Given the description of an element on the screen output the (x, y) to click on. 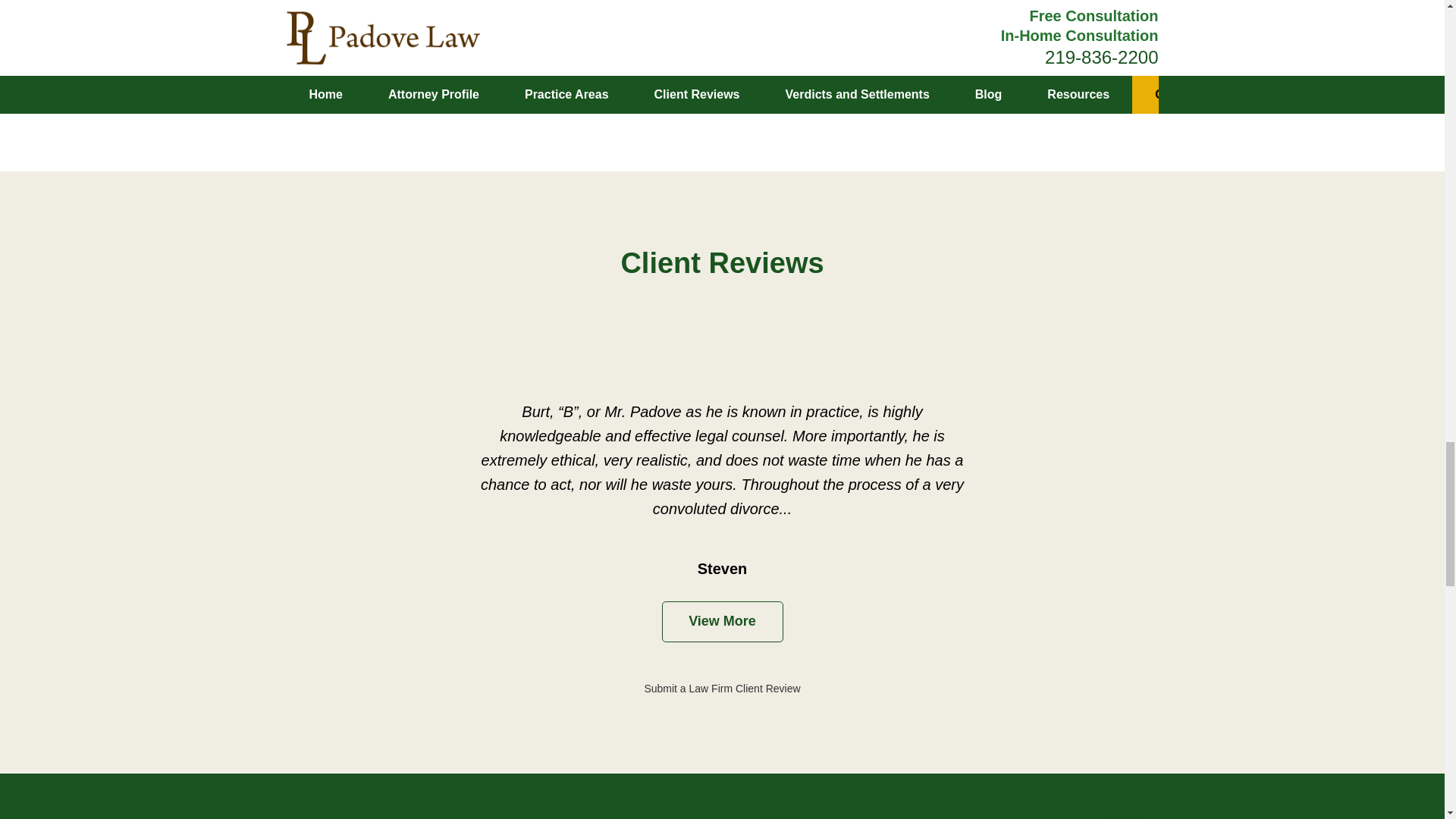
Contact (314, 58)
Submit a Law Firm Client Review (721, 688)
todayslawalert.com (441, 83)
View More (722, 621)
